Given the description of an element on the screen output the (x, y) to click on. 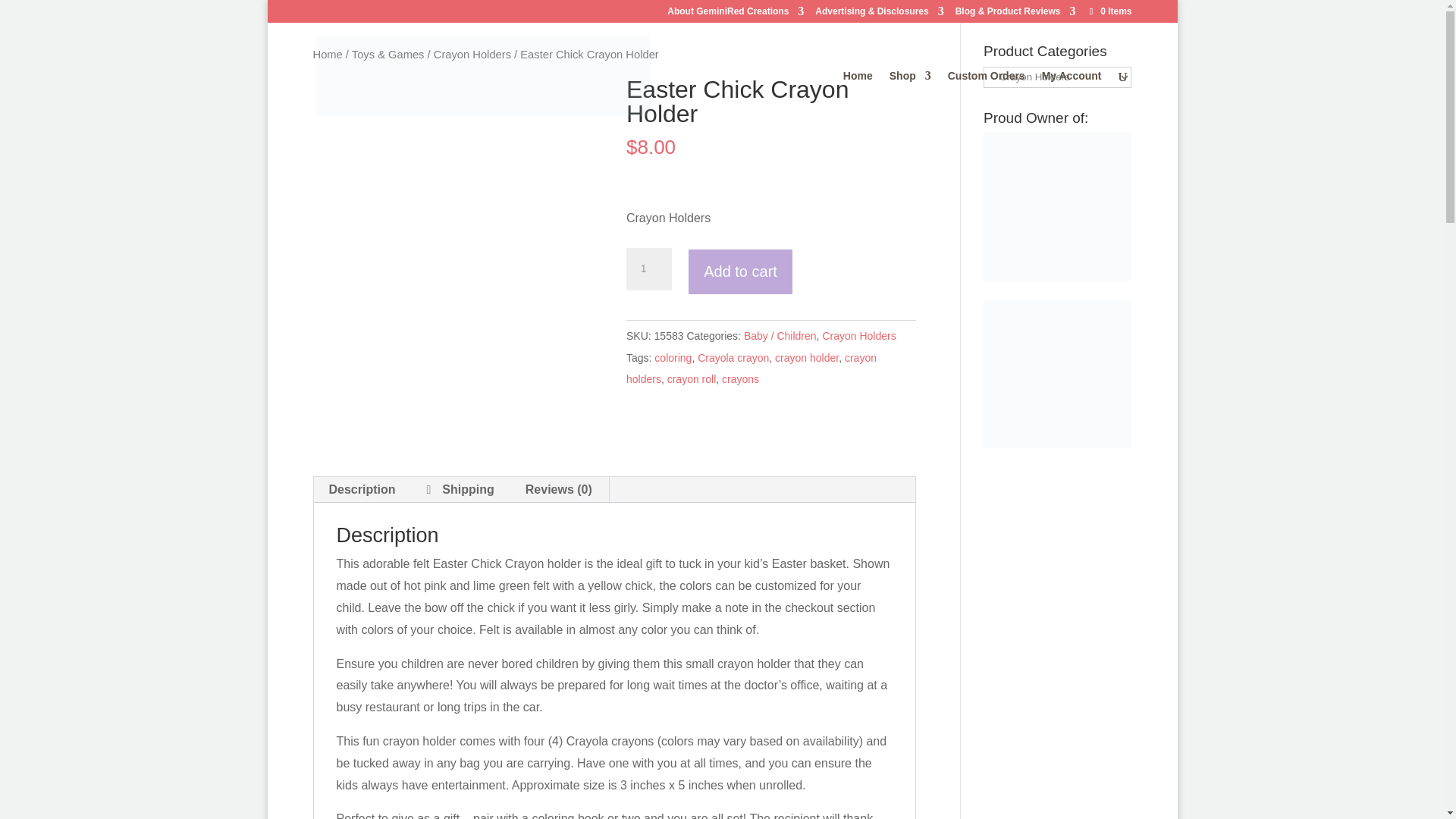
1 (648, 269)
About GeminiRed Creations (734, 14)
Custom Orders (986, 99)
Home (327, 54)
0 Items (1108, 10)
My Account (1072, 99)
